Given the description of an element on the screen output the (x, y) to click on. 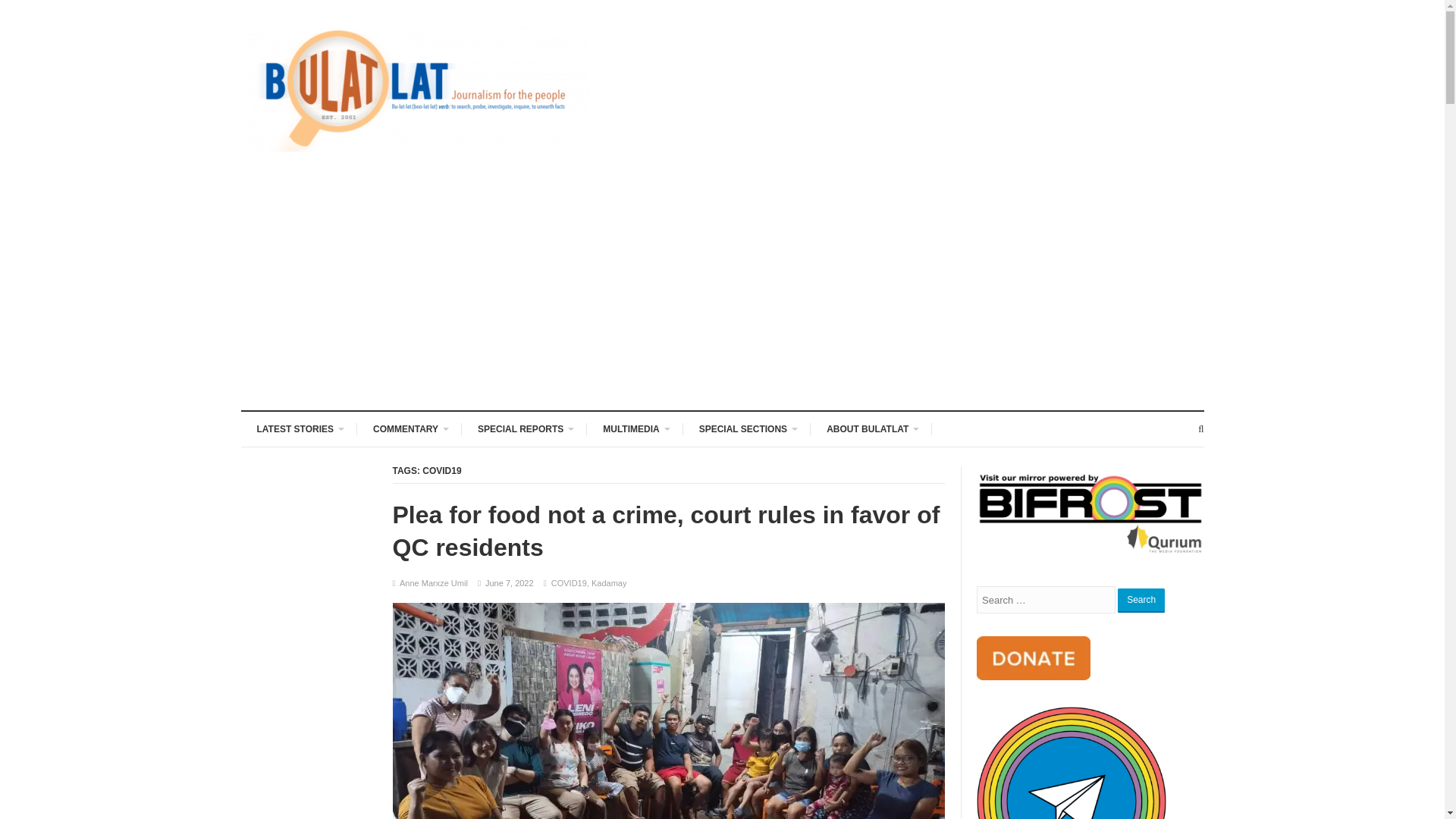
COMMENTARY (409, 428)
SPECIAL SECTIONS (746, 428)
MULTIMEDIA (634, 428)
Tuesday, June 7, 2022, 10:38 pm (509, 583)
SPECIAL REPORTS (523, 428)
LATEST STORIES (299, 428)
